Given the description of an element on the screen output the (x, y) to click on. 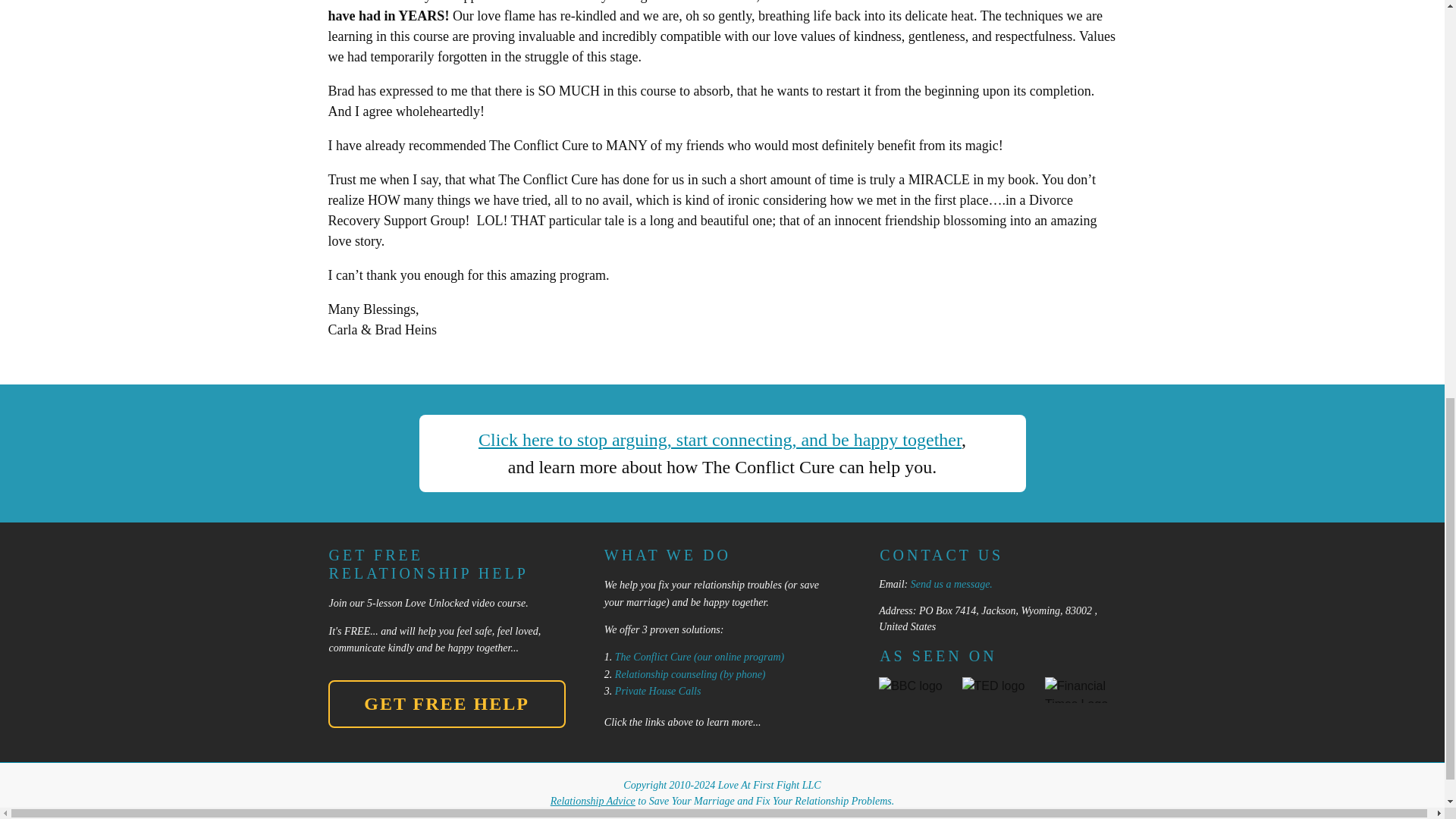
logo-ft (1080, 689)
Terms And Conditions (718, 815)
Private House Calls (657, 690)
logo-ted (997, 691)
logo-bbc (914, 689)
Contact Us (537, 815)
GET FREE HELP (445, 704)
Login (866, 815)
Privacy Policy (809, 815)
Affiliates (911, 815)
Join our 5-lesson Love Unlocked video course (427, 603)
Relationship Advice (592, 800)
Website Disclaimer (616, 815)
Send us a message. (951, 583)
